Given the description of an element on the screen output the (x, y) to click on. 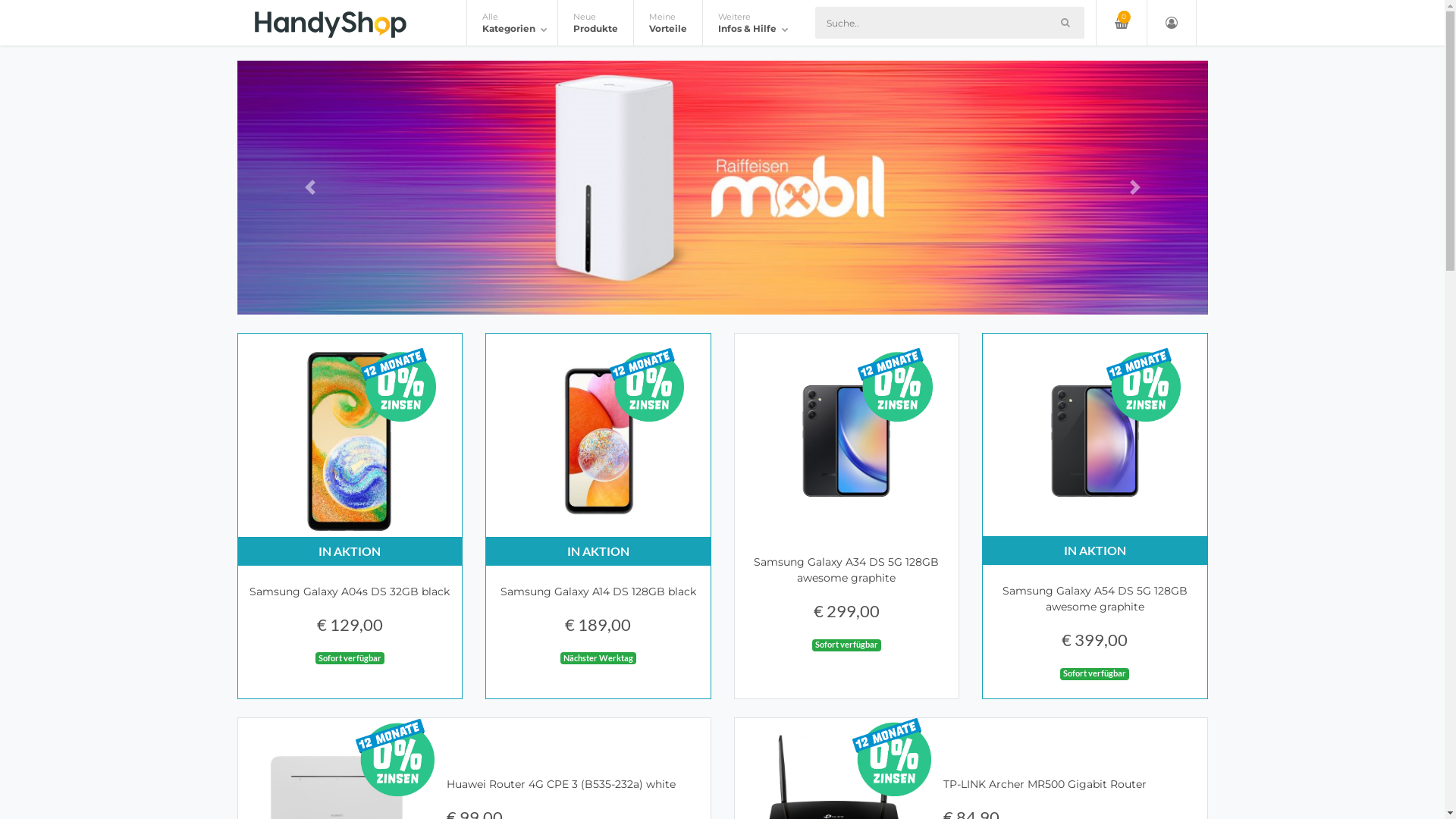
Neue
Produkte Element type: text (595, 22)
Meine
Vorteile Element type: text (667, 22)
Alle
Kategorien Element type: text (512, 22)
Weitere
Infos & Hilfe Element type: text (750, 22)
0 Element type: text (1121, 22)
Voriges Element type: text (309, 187)
